Given the description of an element on the screen output the (x, y) to click on. 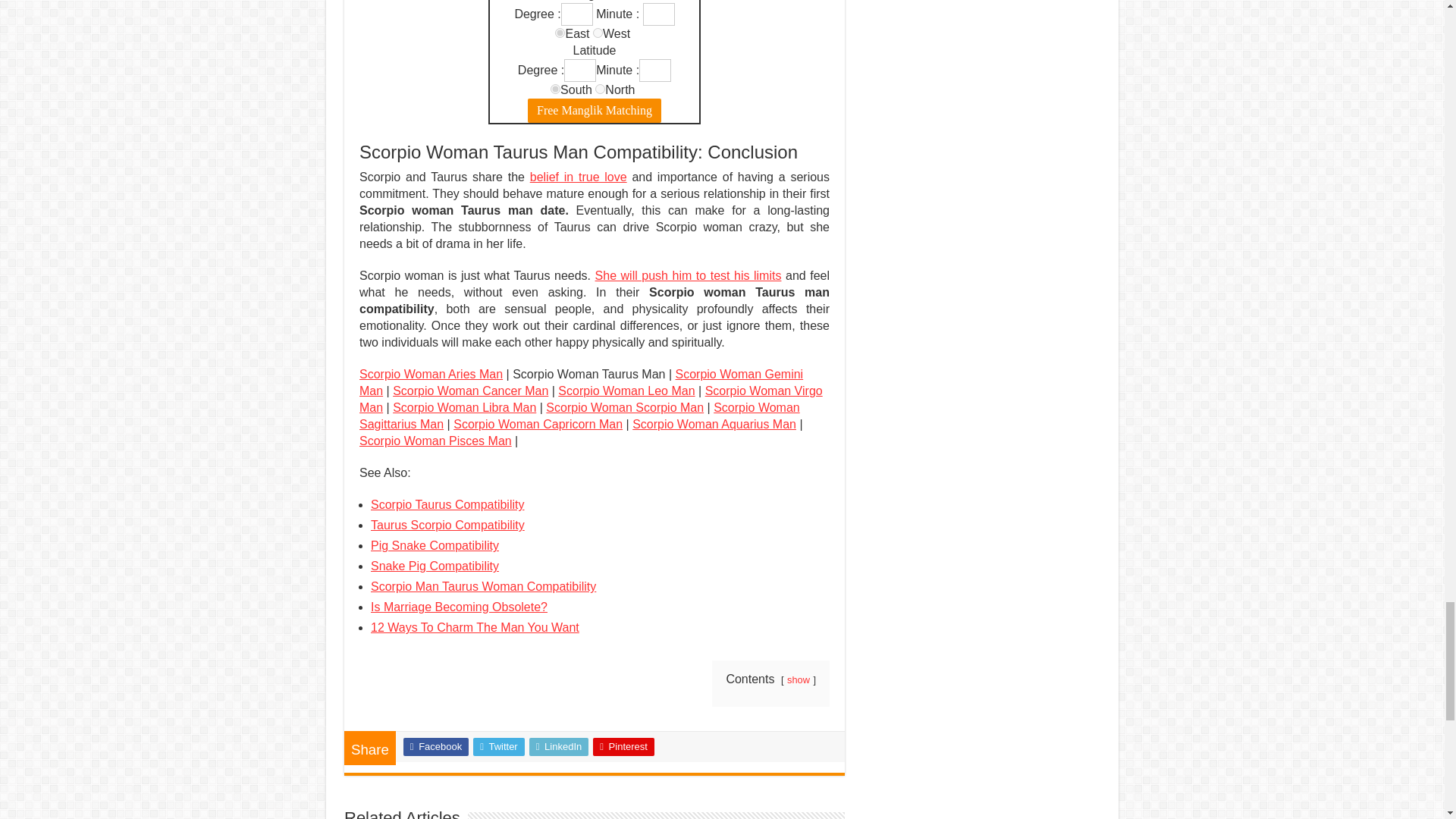
east (559, 32)
west (597, 32)
Free Manglik Matching (594, 110)
south (555, 89)
north (600, 89)
